Given the description of an element on the screen output the (x, y) to click on. 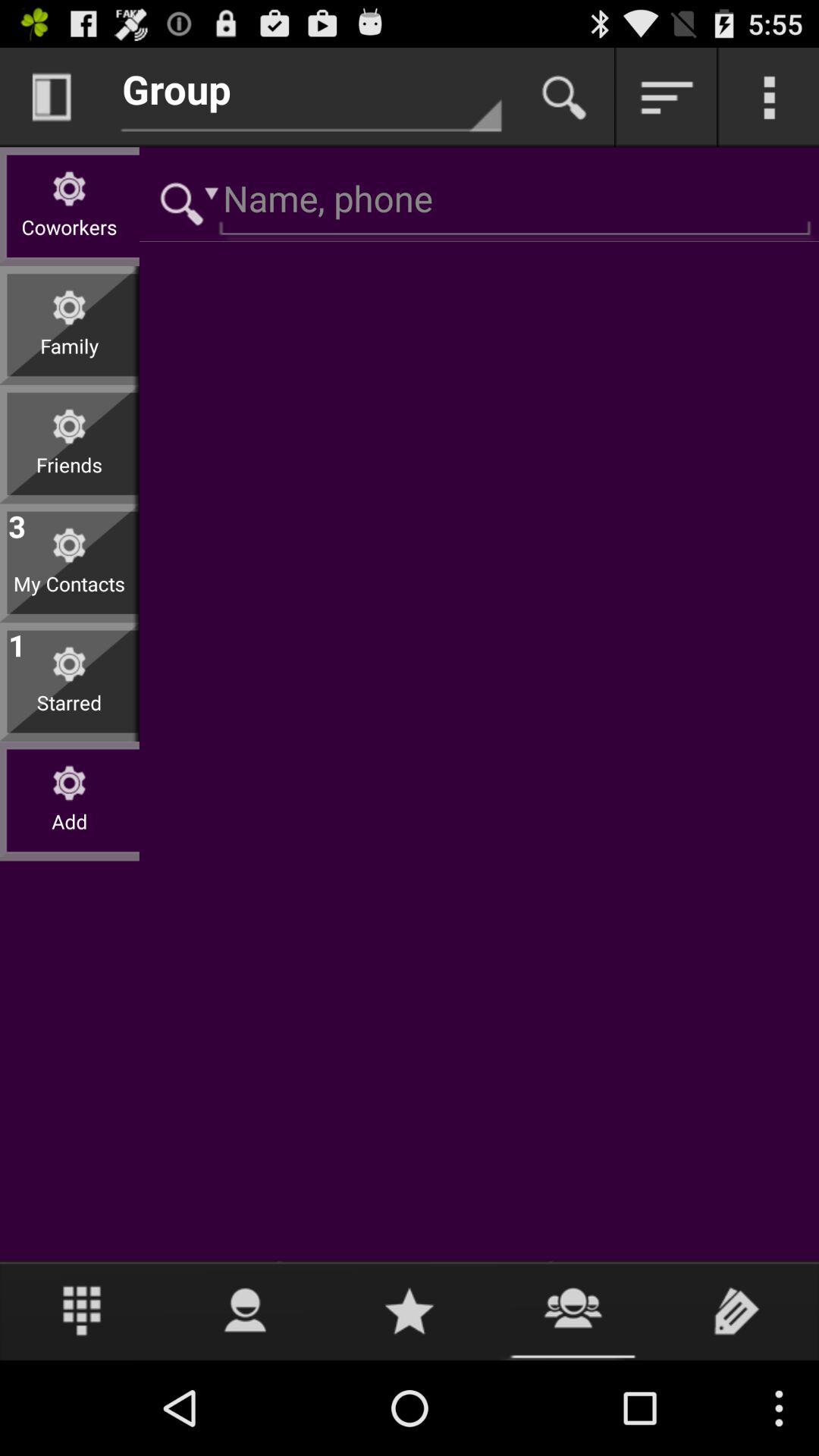
coworker name and phone (479, 201)
